Given the description of an element on the screen output the (x, y) to click on. 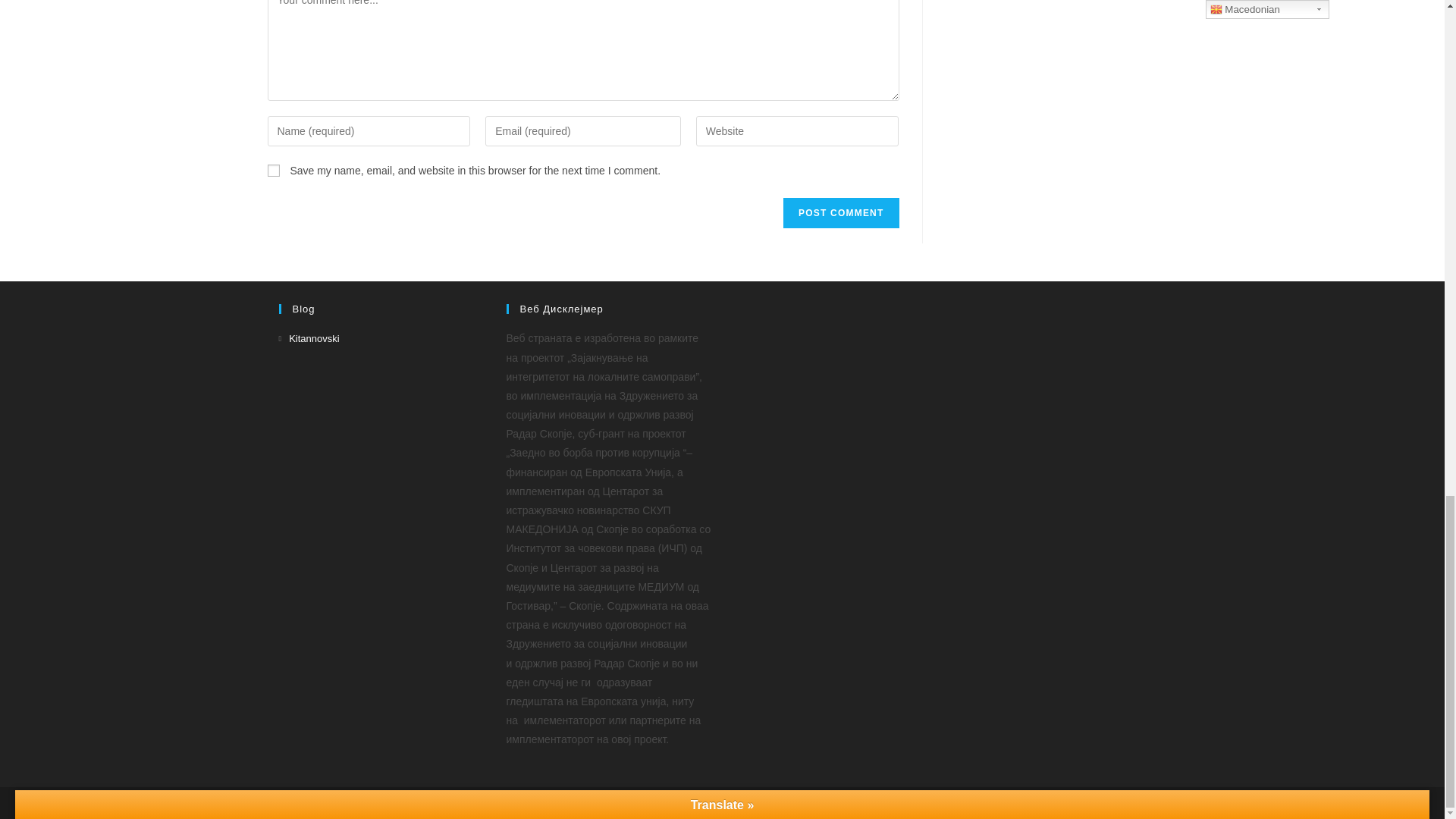
Kitannovski (309, 338)
yes (272, 170)
Post Comment (840, 213)
Post Comment (840, 213)
